Given the description of an element on the screen output the (x, y) to click on. 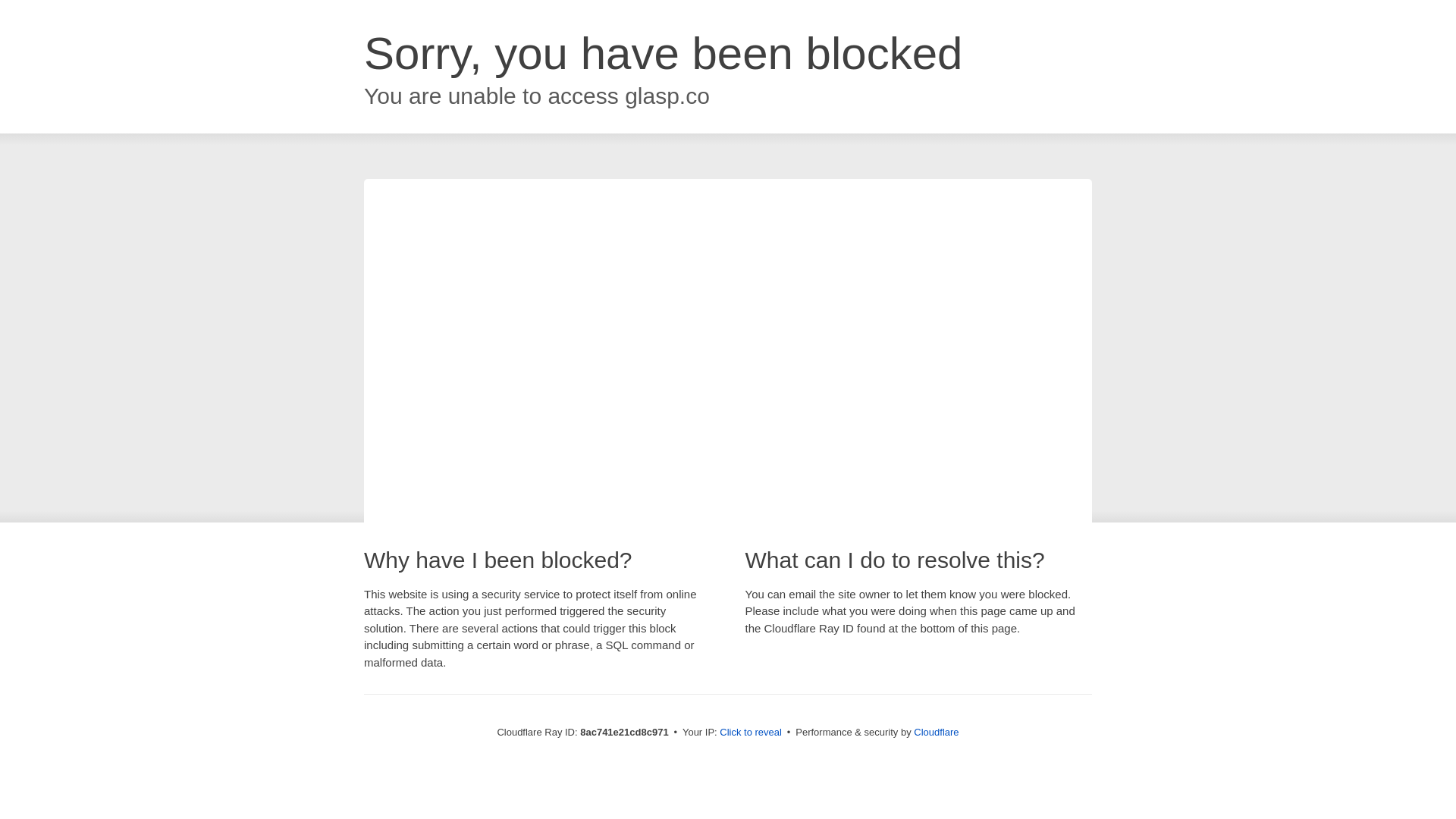
Click to reveal (750, 732)
Cloudflare (936, 731)
